Given the description of an element on the screen output the (x, y) to click on. 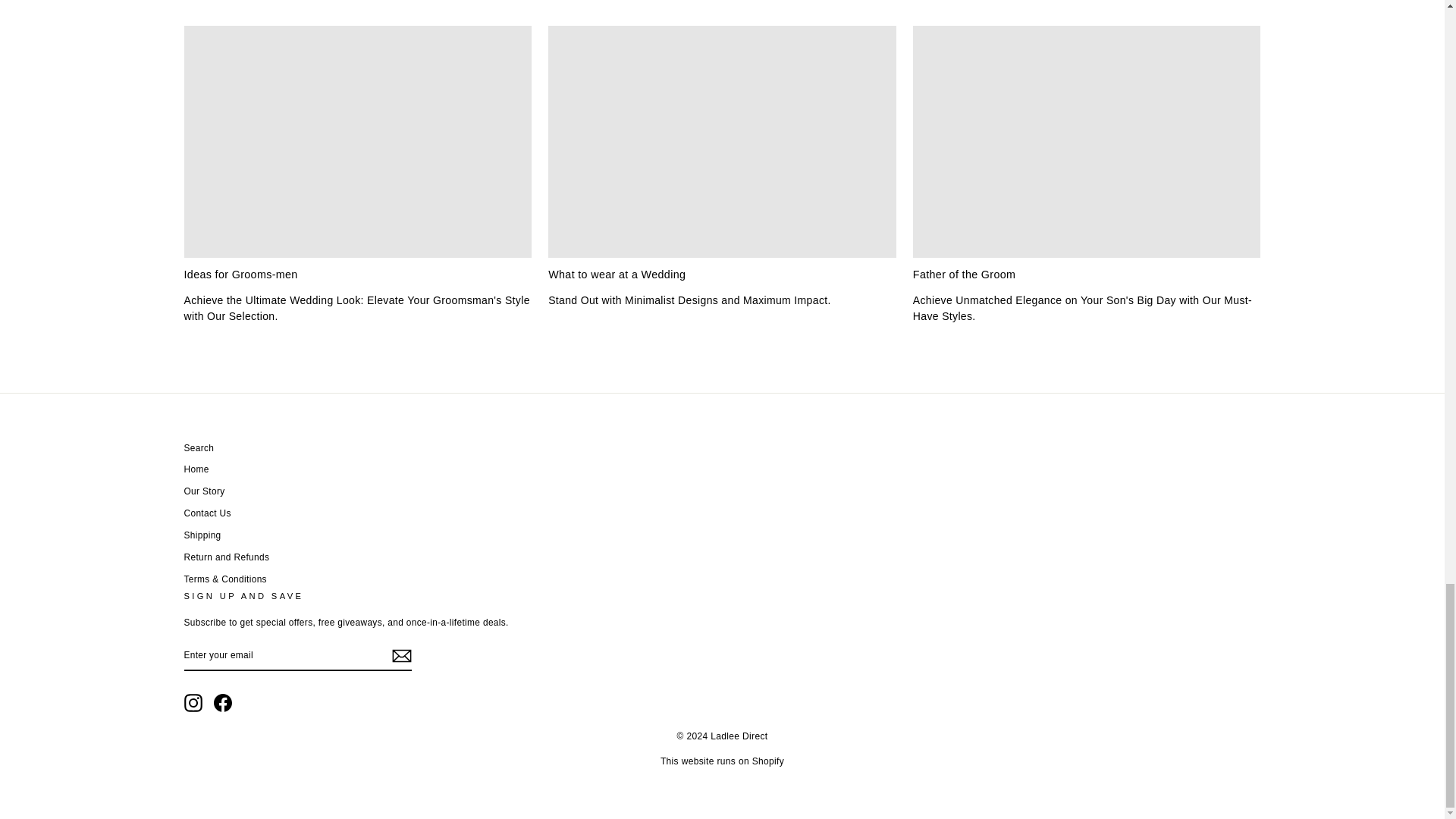
instagram (192, 702)
Ladlee Direct on Facebook (222, 702)
icon-email (400, 656)
Ladlee Direct on Instagram (192, 702)
